Given the description of an element on the screen output the (x, y) to click on. 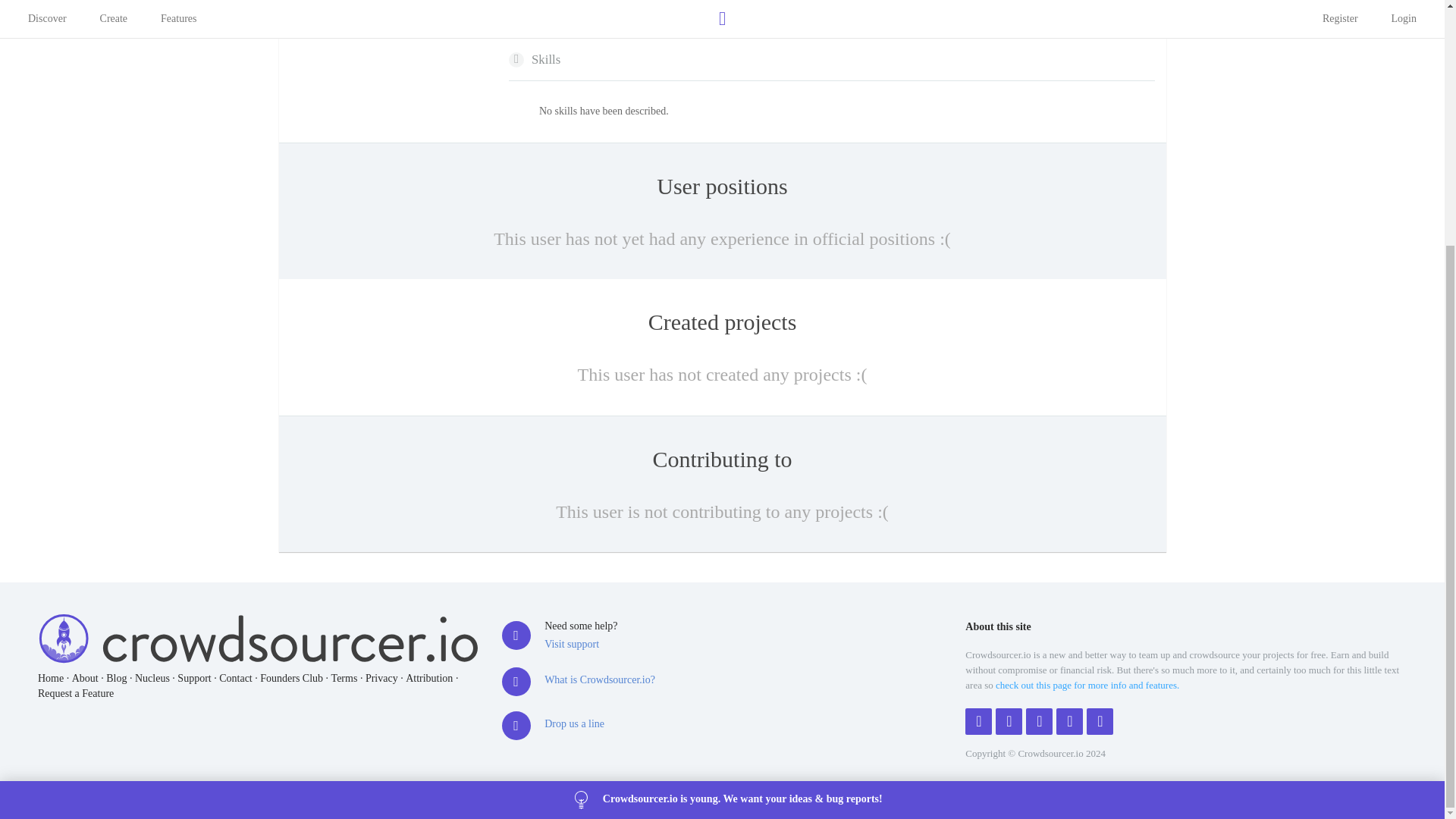
About (85, 677)
Blog (116, 677)
What is Crowdsourcer.io? (599, 679)
Home (50, 677)
Privacy (381, 677)
Drop us a line (574, 723)
Visit support (571, 644)
Contact (235, 677)
Nucleus (152, 677)
Attribution (429, 677)
